Given the description of an element on the screen output the (x, y) to click on. 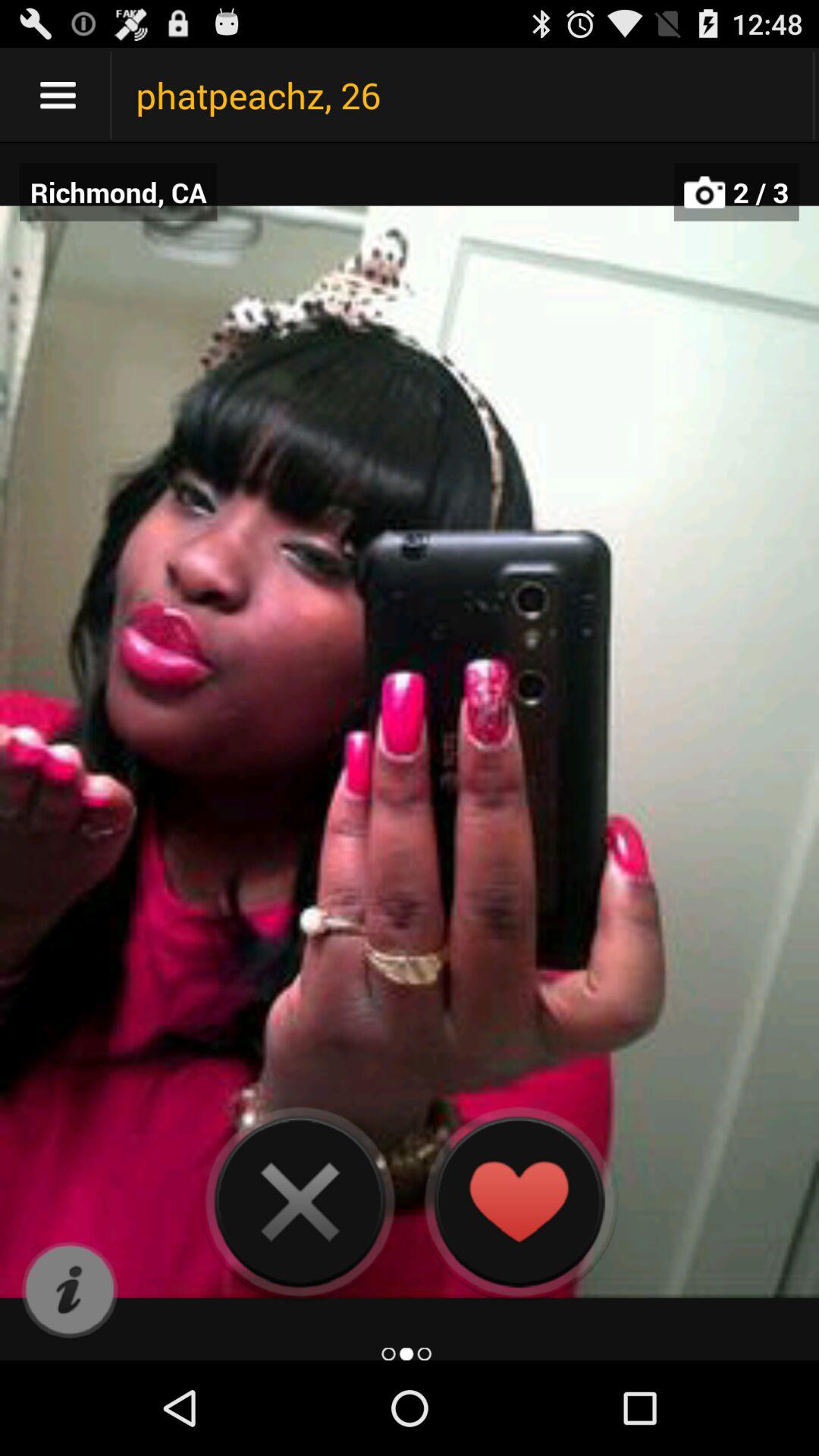
open the icon at the bottom left corner (69, 1290)
